Given the description of an element on the screen output the (x, y) to click on. 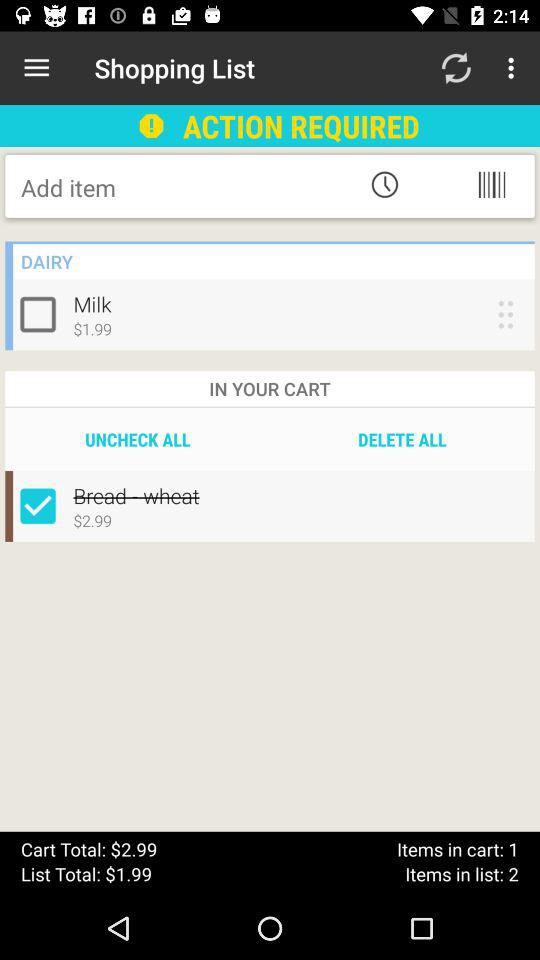
this clock (384, 184)
